Given the description of an element on the screen output the (x, y) to click on. 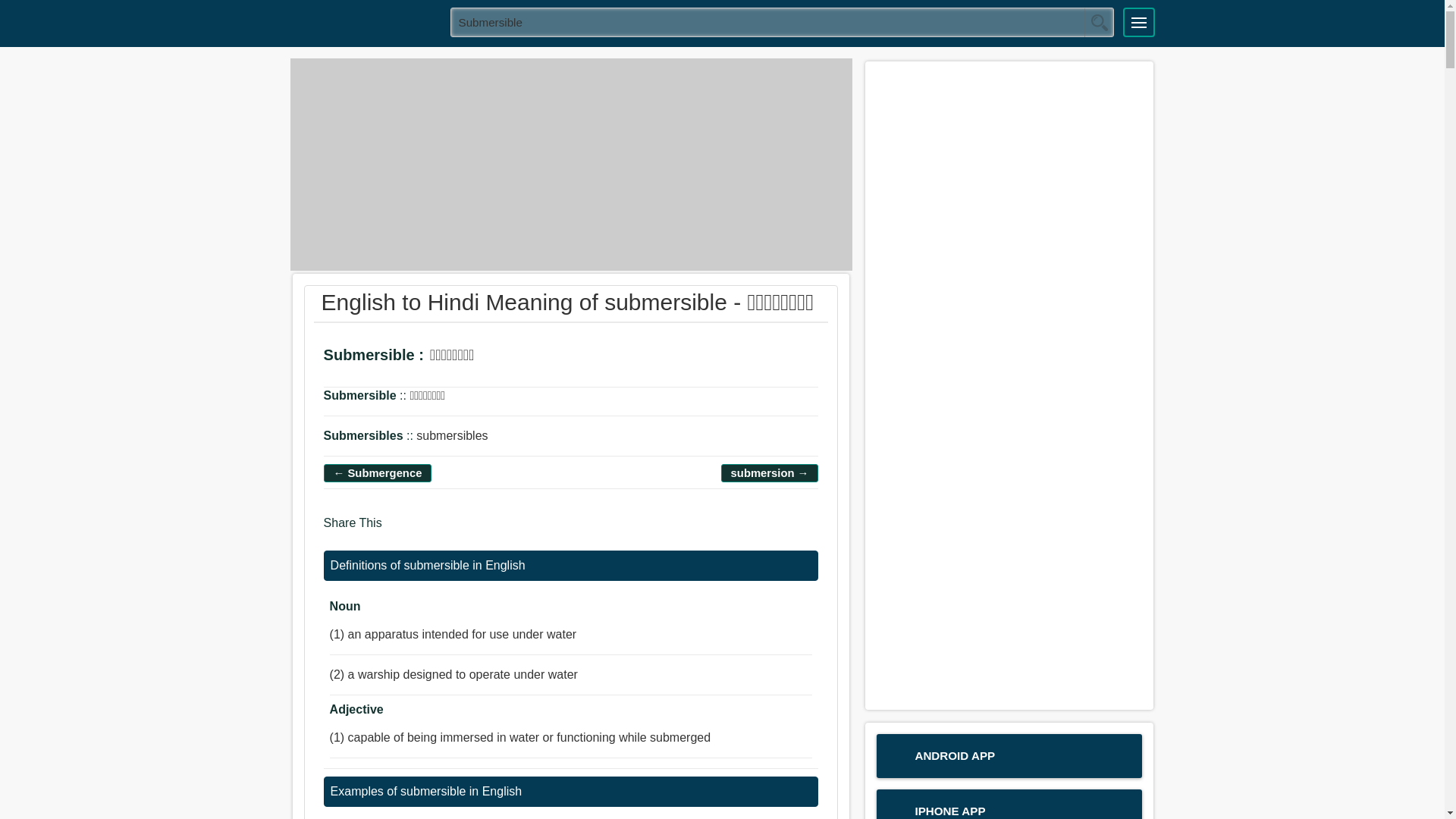
Add To Favorites (541, 357)
English to Hindi meaning of submergence (377, 473)
Twitter (428, 529)
English to Hindi meaning of submersion (770, 473)
More Share (485, 529)
HINDI (365, 20)
Say The Word (499, 357)
Search (1098, 22)
submersible (782, 21)
Linkedin (458, 529)
